Given the description of an element on the screen output the (x, y) to click on. 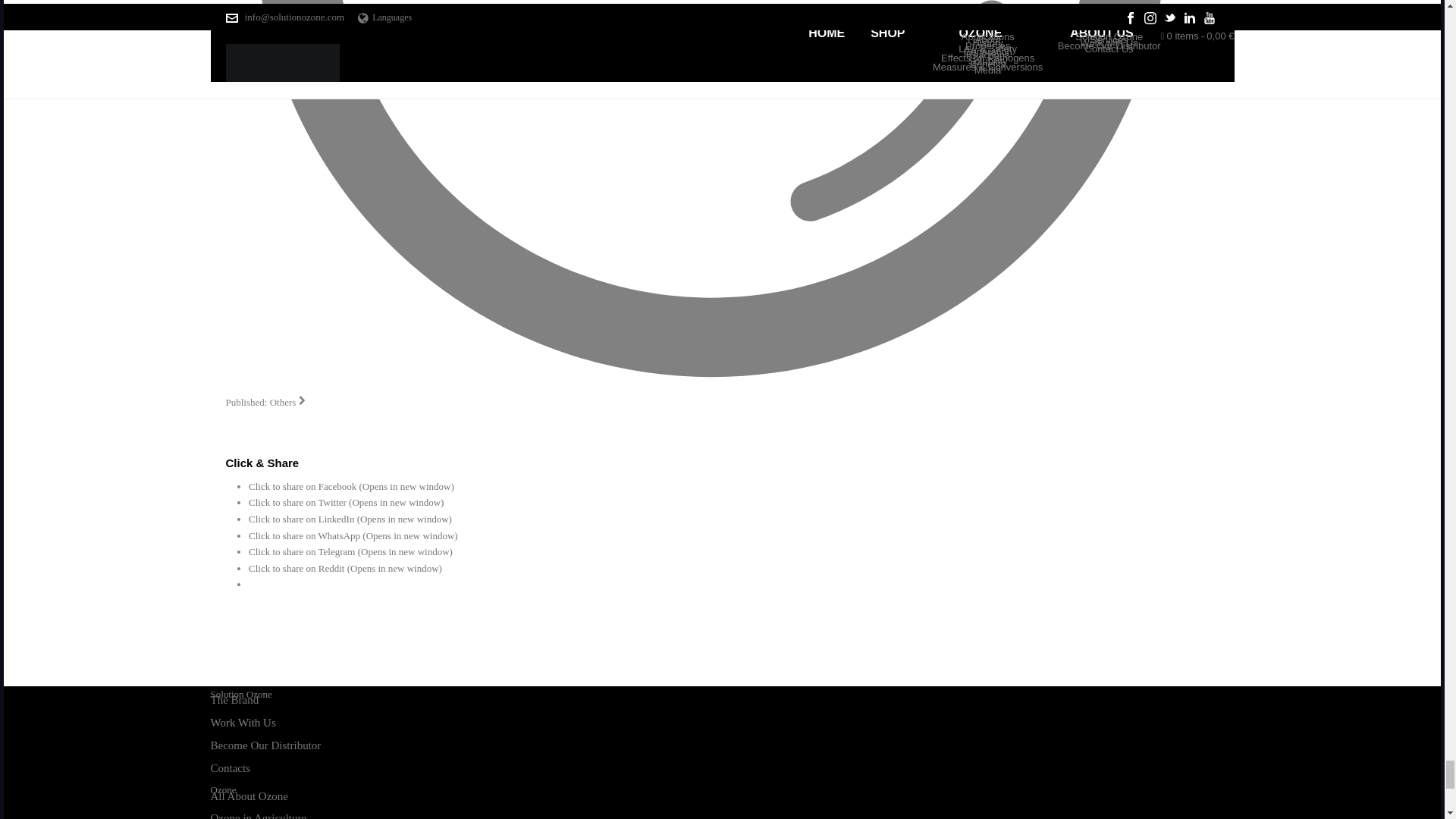
Click to share on Twitter (346, 501)
Click to share on WhatsApp (353, 535)
Click to share on Reddit (345, 568)
Click to share on LinkedIn (349, 518)
Click to share on Telegram (350, 551)
Click to share on Facebook (351, 486)
